Given the description of an element on the screen output the (x, y) to click on. 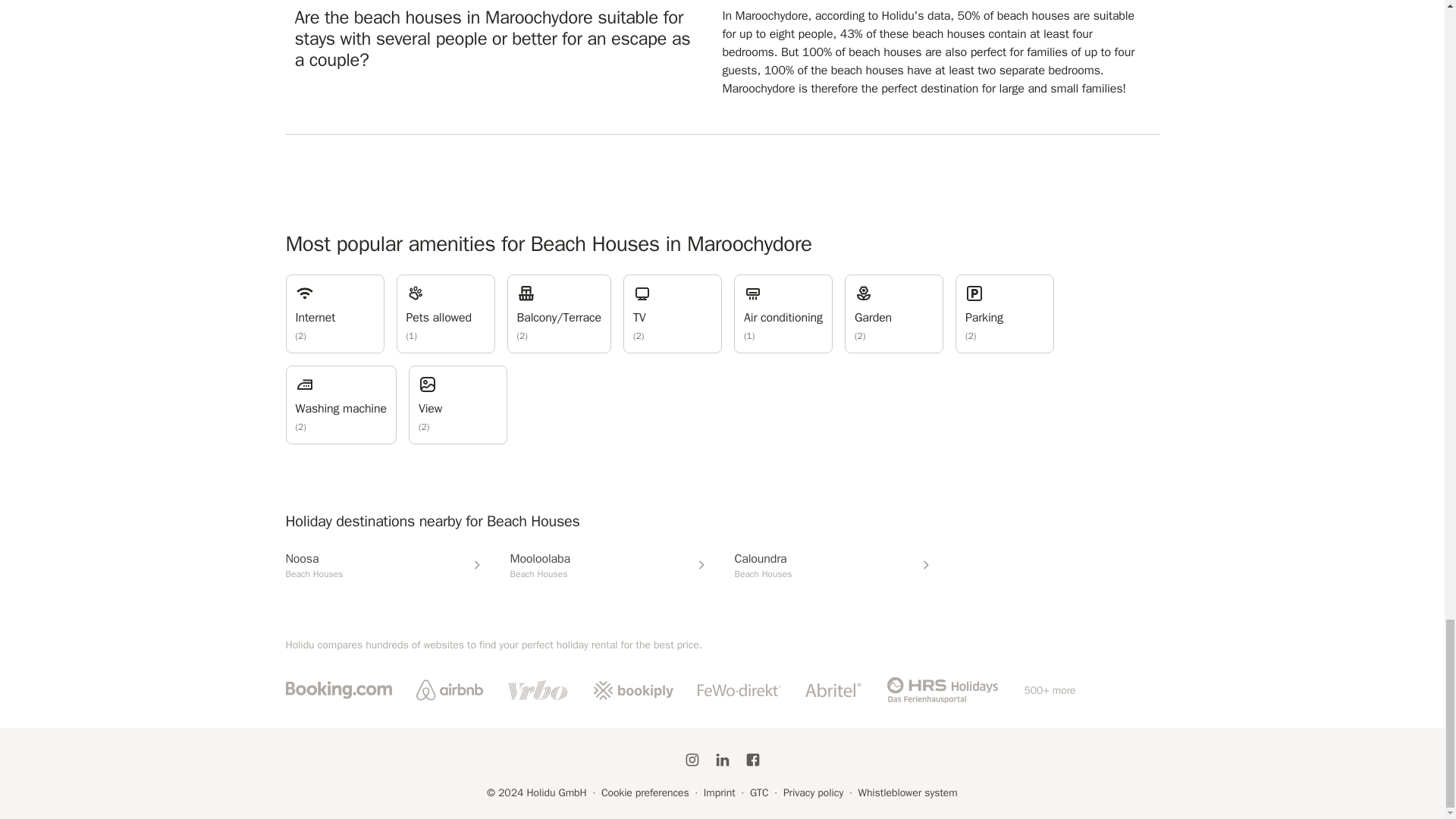
Beach Houses in Noosa (385, 564)
Beach Houses in Mooloolaba (609, 564)
Beach Houses in Caloundra (834, 564)
